Given the description of an element on the screen output the (x, y) to click on. 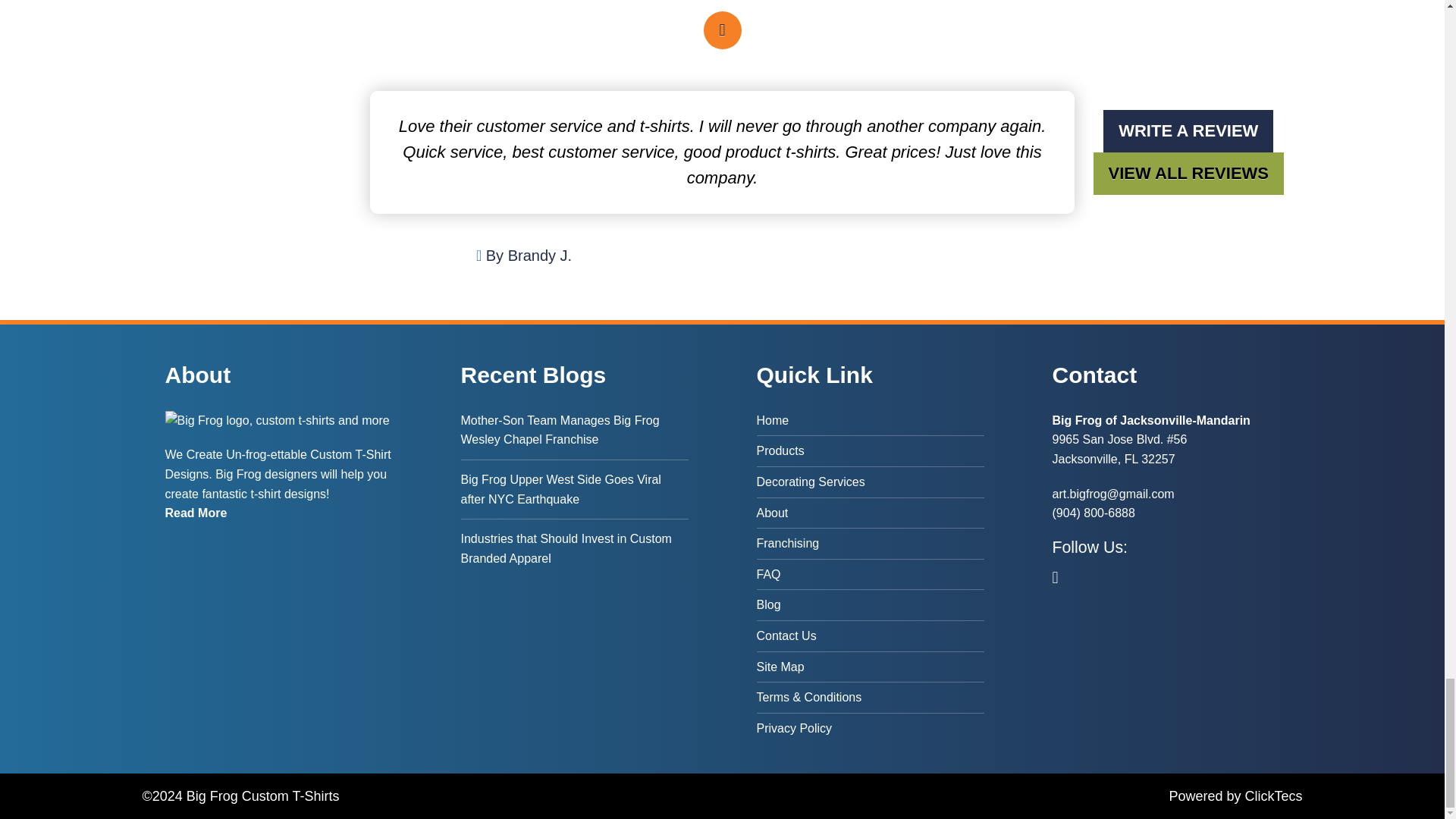
VIEW ALL REVIEWS (1188, 173)
WRITE A REVIEW (1187, 130)
Home (870, 423)
Big Frog Upper West Side Goes Viral after NYC Earthquake (574, 489)
ClickTecs - Creativity with Expertise (1272, 795)
Industries that Should Invest in Custom Branded Apparel (574, 548)
Mother-Son Team Manages Big Frog Wesley Chapel Franchise (574, 435)
Read More (196, 512)
